Given the description of an element on the screen output the (x, y) to click on. 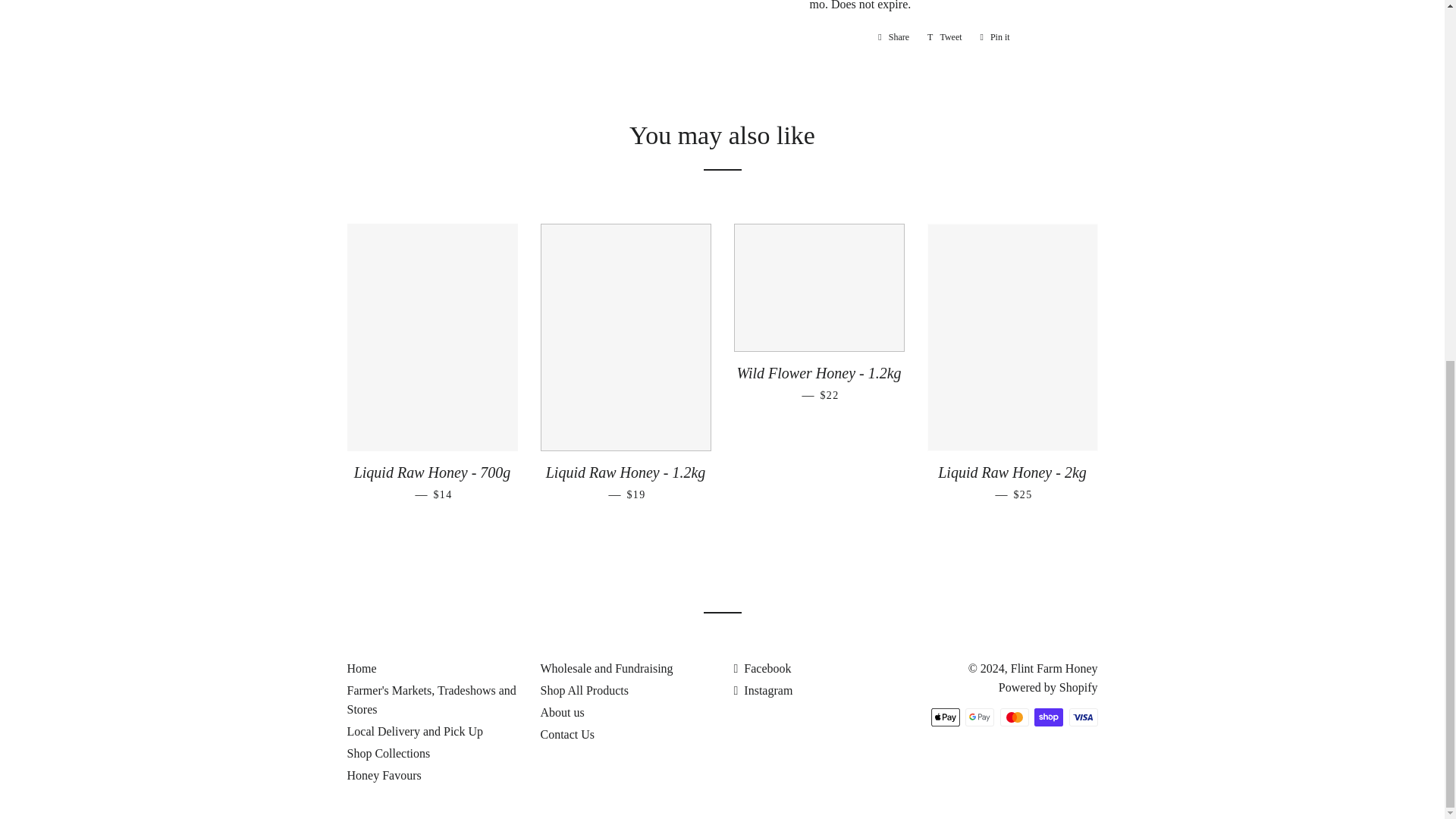
Mastercard (893, 36)
Pin on Pinterest (1012, 717)
Apple Pay (994, 36)
Shop Pay (945, 717)
Google Pay (1047, 717)
Flint Farm Honey on Instagram (994, 36)
Tweet on Twitter (979, 717)
